Given the description of an element on the screen output the (x, y) to click on. 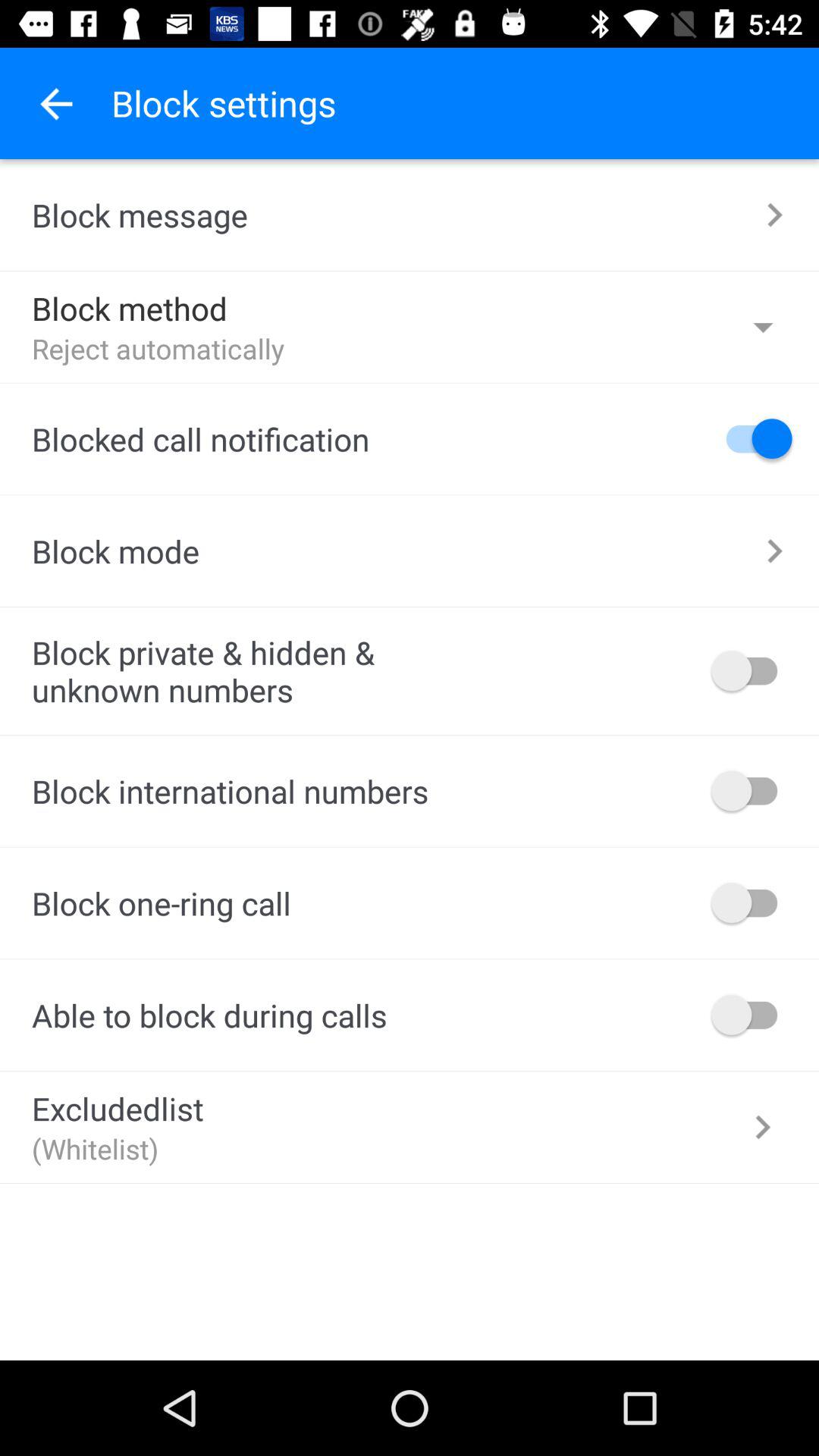
toggle blocked call notification (751, 438)
